Given the description of an element on the screen output the (x, y) to click on. 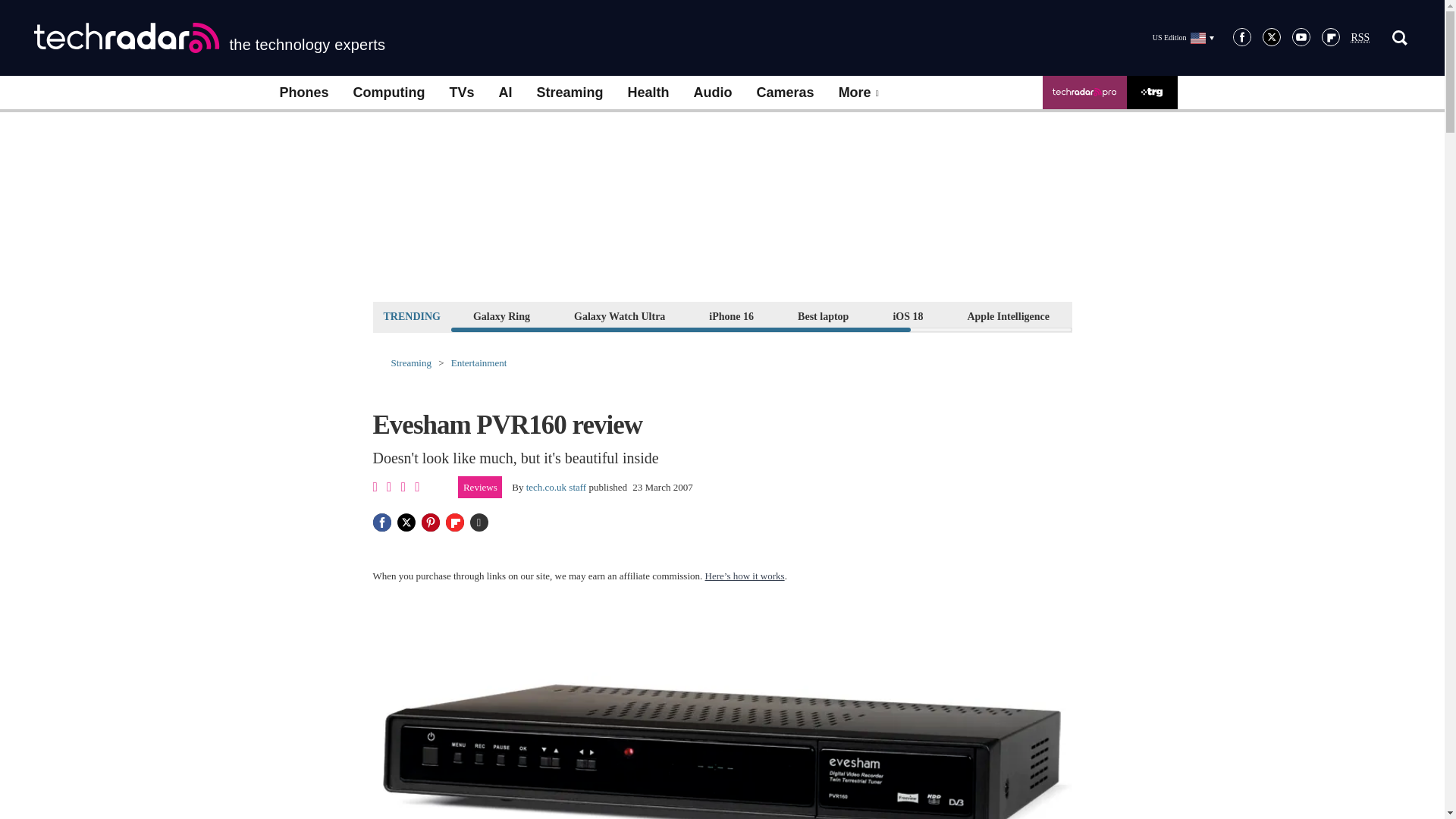
AI (505, 92)
Cameras (785, 92)
Audio (712, 92)
Really Simple Syndication (1360, 37)
US Edition (1182, 37)
Health (648, 92)
Streaming (569, 92)
Phones (303, 92)
Computing (389, 92)
TVs (461, 92)
the technology experts (209, 38)
